Given the description of an element on the screen output the (x, y) to click on. 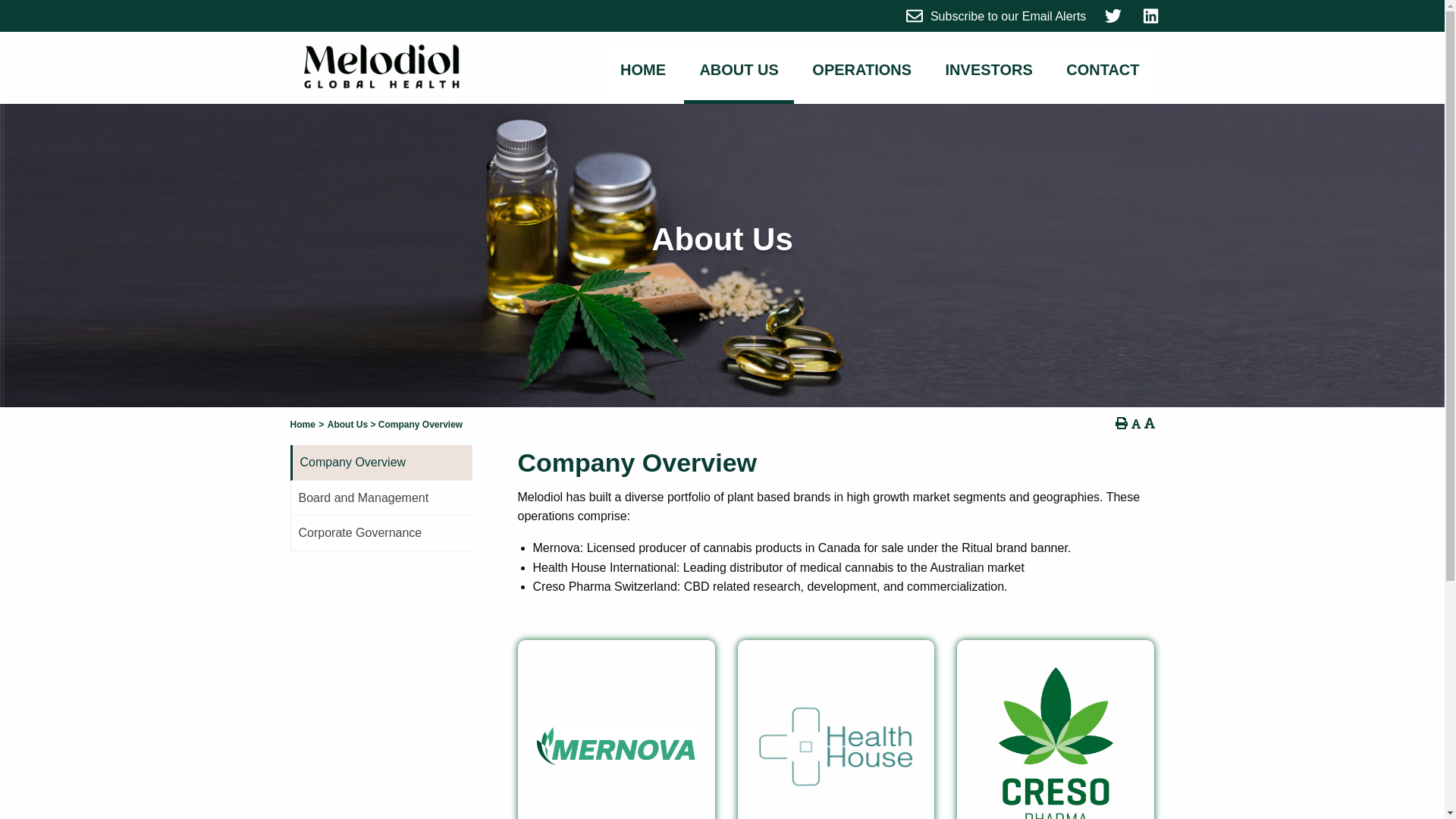
ABOUT US (738, 75)
Print Page (1120, 422)
INVESTORS (989, 69)
Subscribe to our Email Alerts (995, 15)
OPERATIONS (861, 69)
HOME (643, 69)
